Given the description of an element on the screen output the (x, y) to click on. 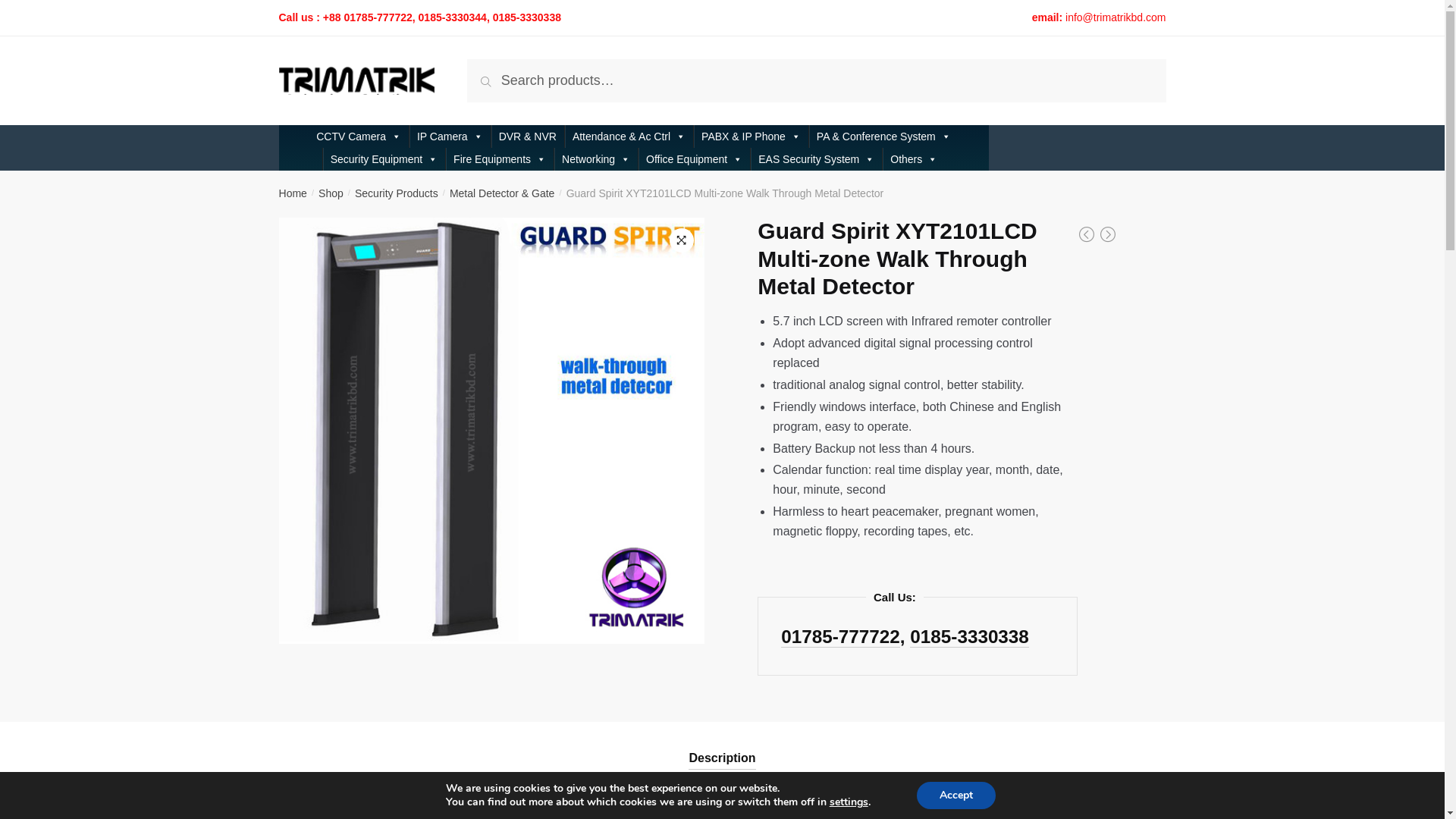
IP Camera Element type: text (449, 136)
PABX & IP Phone Element type: text (750, 136)
Fire Equipments Element type: text (499, 158)
Networking Element type: text (595, 158)
Attendance & Ac Ctrl Element type: text (628, 136)
CCTV Camera Element type: text (358, 136)
EAS Security System Element type: text (815, 158)
Office Equipment Element type: text (693, 158)
Shop Element type: text (330, 193)
0185-3330338 Element type: text (969, 636)
Description Element type: text (721, 745)
XYT2101LCD Bangladesh Element type: hover (492, 430)
Search Element type: text (499, 74)
Accept Element type: text (955, 795)
Security Products Element type: text (396, 193)
Others Element type: text (913, 158)
Security Equipment Element type: text (384, 158)
Metal Detector & Gate Element type: text (502, 193)
01785-777722 Element type: text (840, 636)
PA & Conference System Element type: text (883, 136)
info@trimatrikbd.com Element type: text (1115, 17)
Home Element type: text (293, 193)
settings Element type: text (848, 802)
DVR & NVR Element type: text (527, 136)
